Given the description of an element on the screen output the (x, y) to click on. 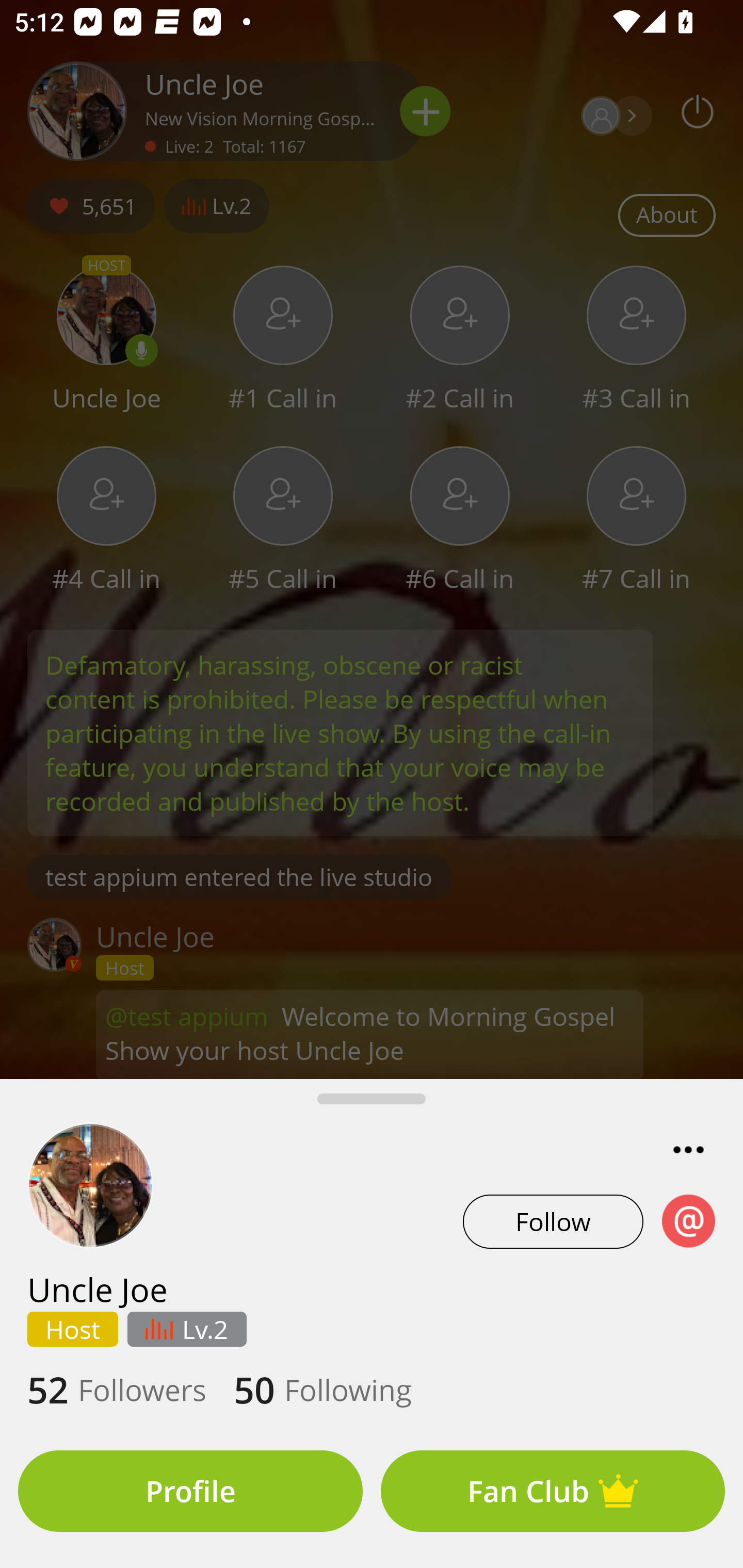
Follow (552, 1221)
Profile (189, 1490)
Fan Club (552, 1490)
